Given the description of an element on the screen output the (x, y) to click on. 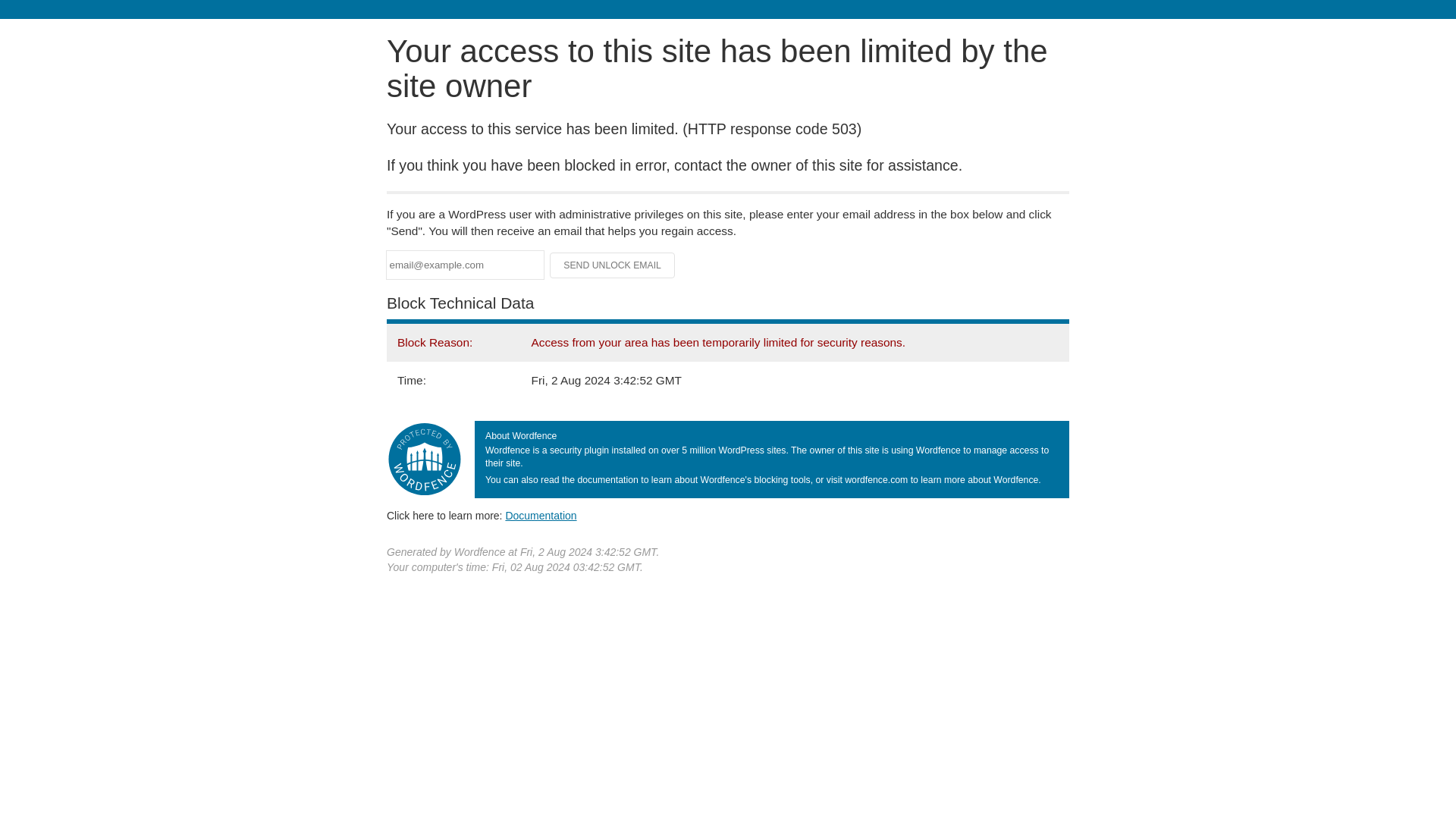
Documentation (540, 515)
Send Unlock Email (612, 265)
Send Unlock Email (612, 265)
